Given the description of an element on the screen output the (x, y) to click on. 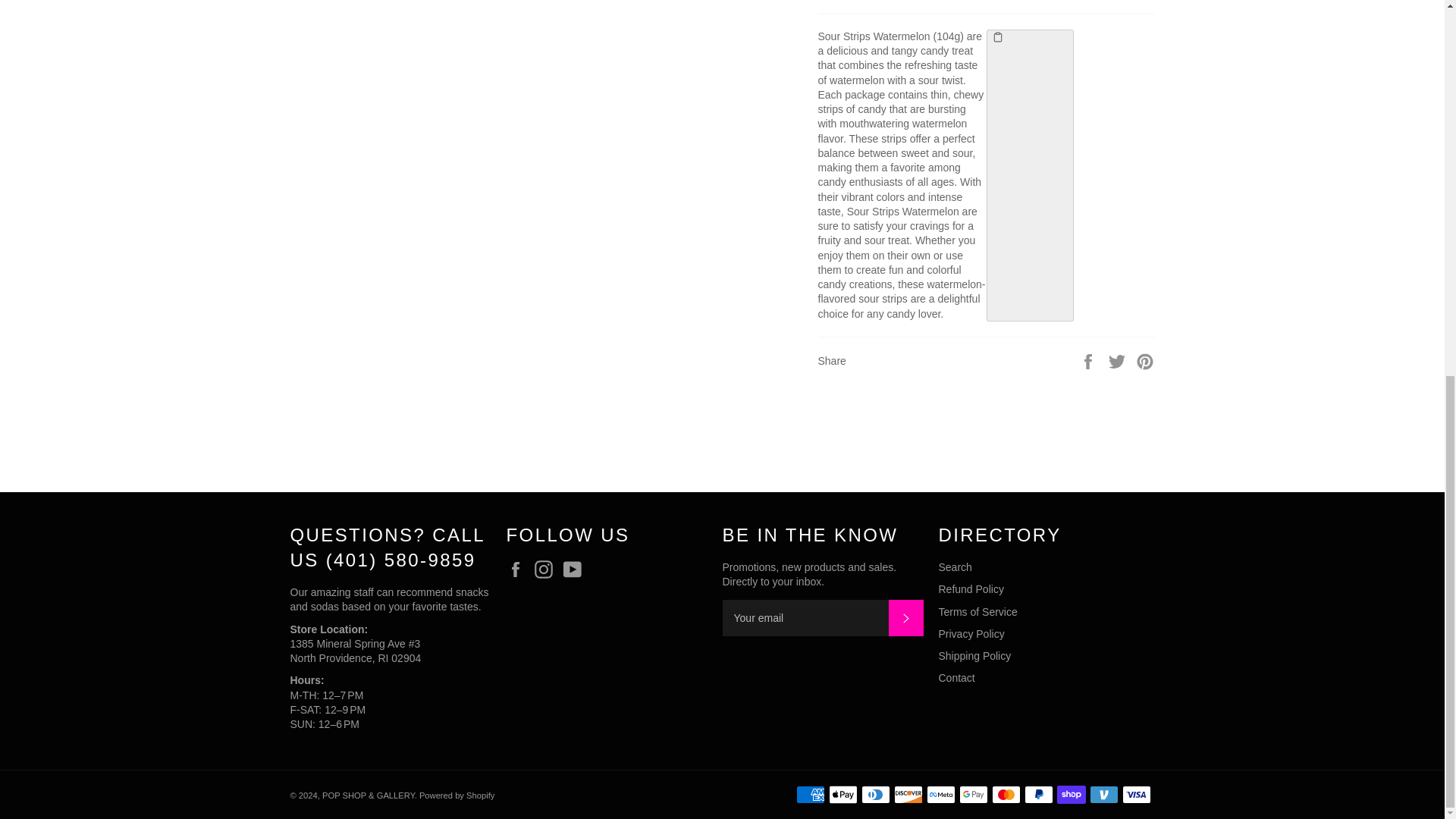
Pin on Pinterest (1144, 360)
Share on Facebook (1089, 360)
Tweet on Twitter (1118, 360)
